Given the description of an element on the screen output the (x, y) to click on. 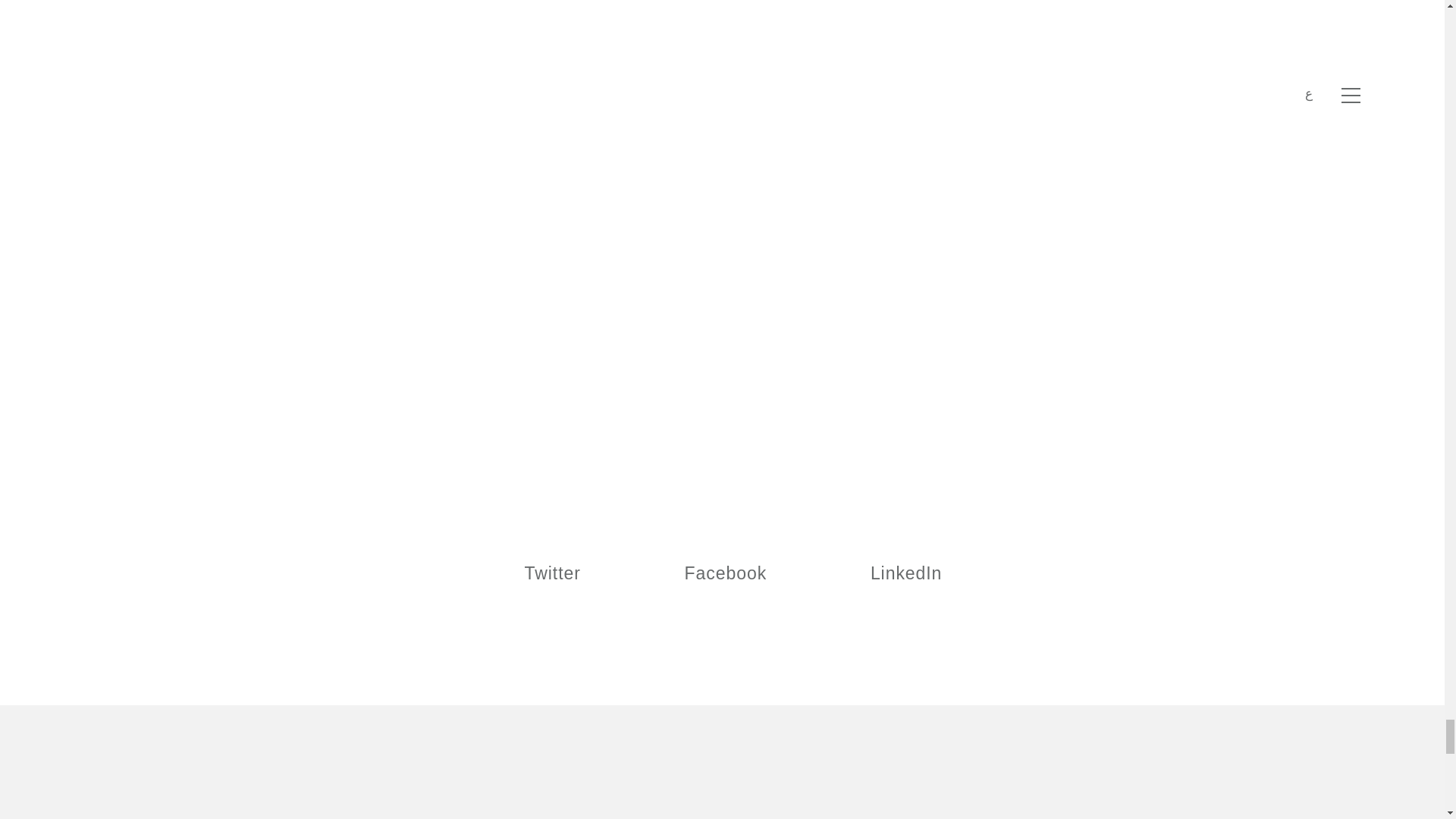
    Twitter (541, 574)
    Facebook (714, 574)
    LinkedIn (895, 574)
